Given the description of an element on the screen output the (x, y) to click on. 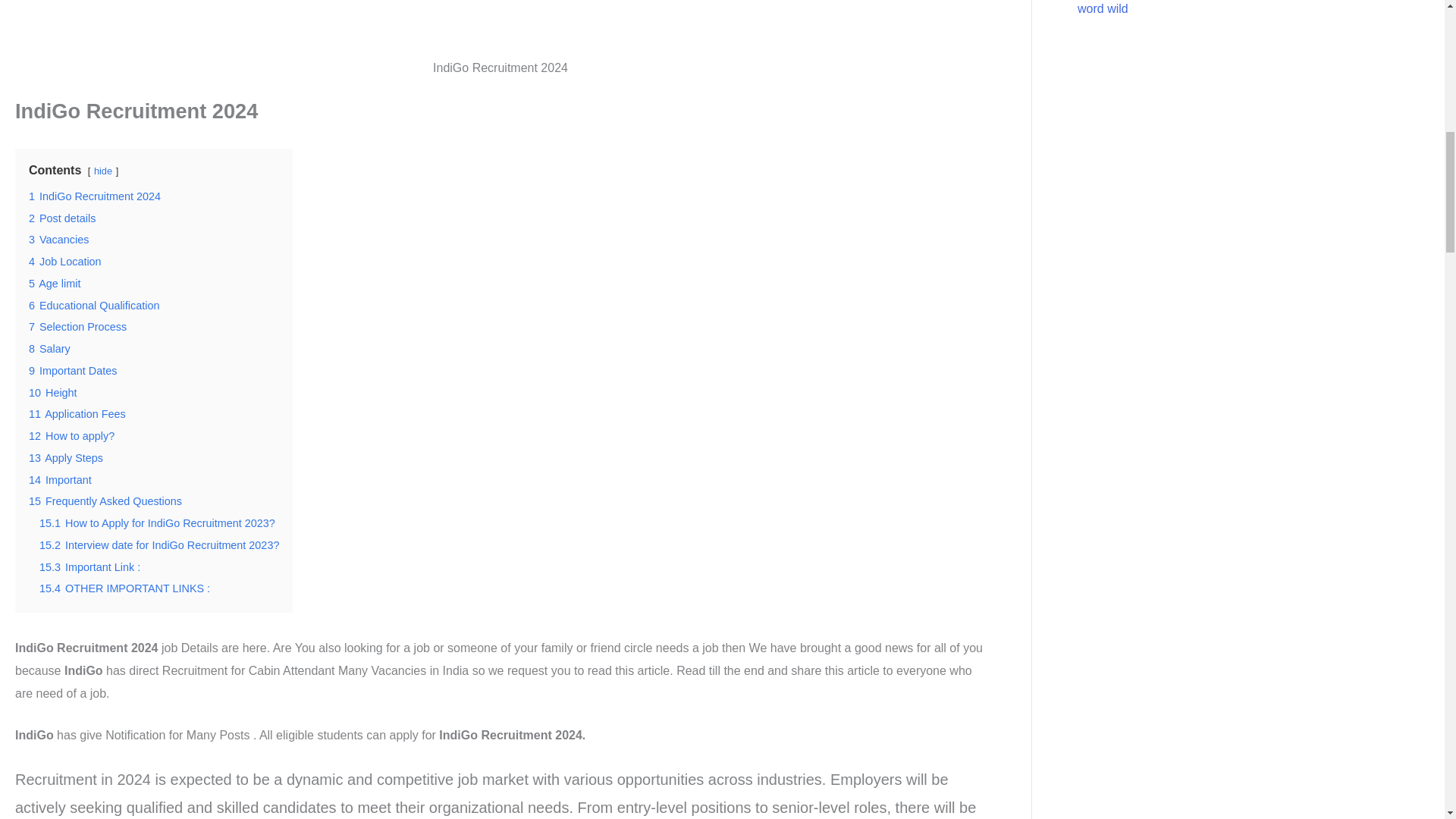
2 Post details (62, 218)
6 Educational Qualification (93, 305)
8 Salary (49, 348)
11 Application Fees (77, 413)
10 Height (53, 392)
13 Apply Steps (66, 458)
12 How to apply? (72, 435)
hide (103, 170)
4 Job Location (65, 261)
3 Vacancies (58, 239)
